Given the description of an element on the screen output the (x, y) to click on. 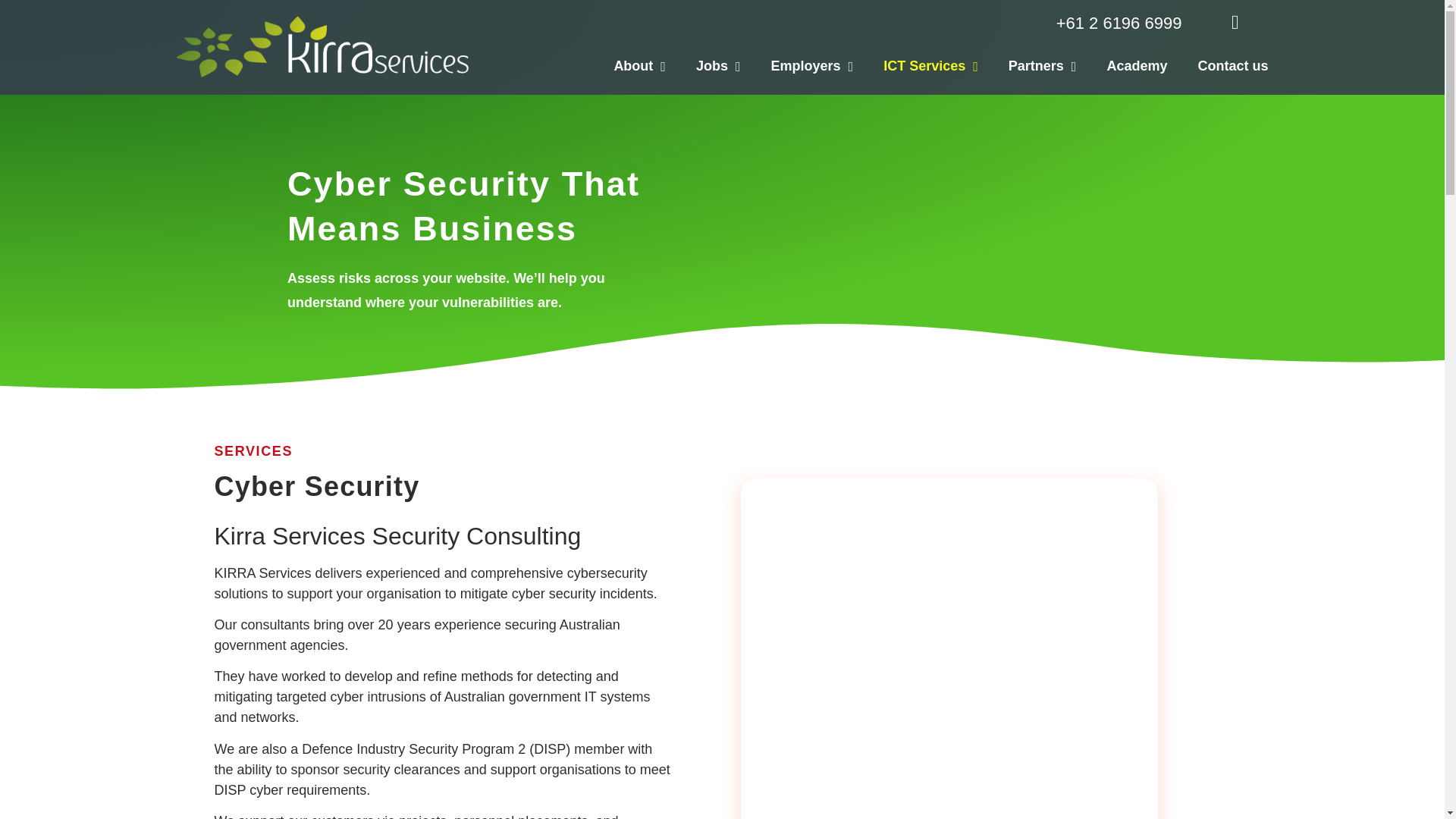
Cyber Security 1 (469, 413)
About (624, 73)
Employers (797, 73)
Jobs (703, 73)
